Given the description of an element on the screen output the (x, y) to click on. 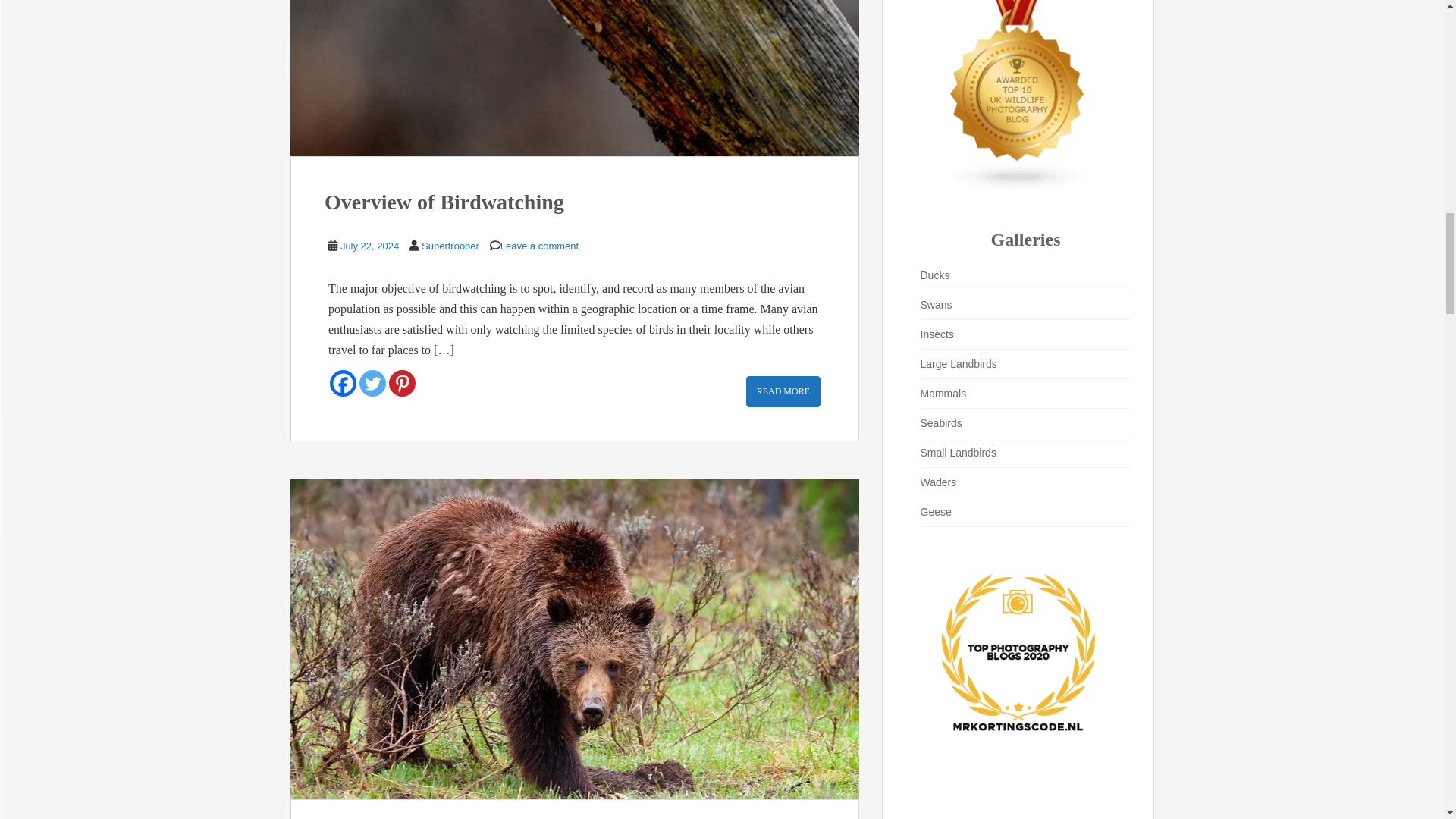
Overview of Birdwatching (574, 78)
Leave a comment (539, 245)
Facebook (343, 383)
READ MORE (783, 391)
Overview of Birdwatching (444, 201)
July 22, 2024 (369, 245)
Supertrooper (450, 245)
Pinterest (401, 383)
Twitter (372, 383)
